Given the description of an element on the screen output the (x, y) to click on. 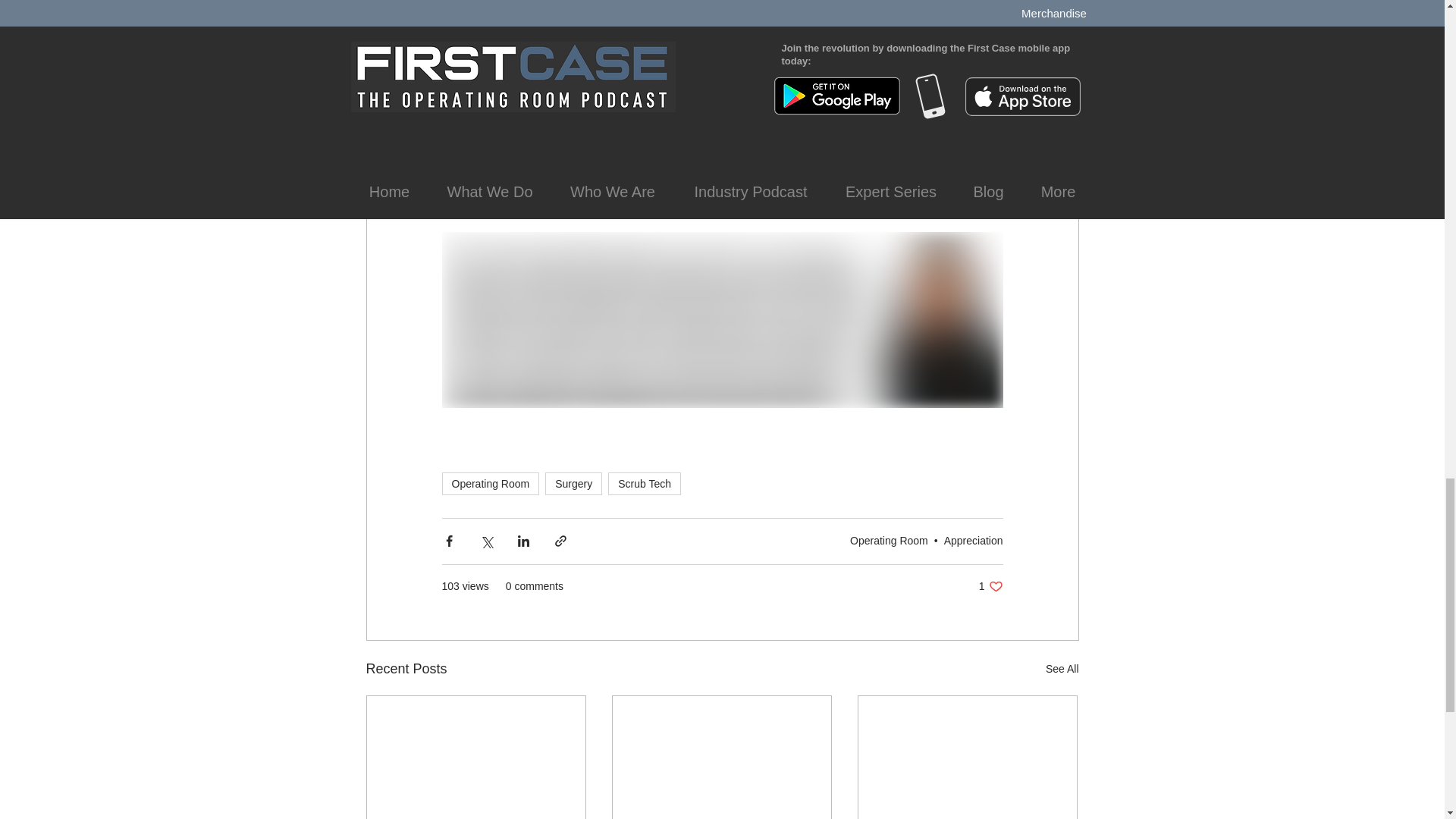
Appreciation (990, 586)
Operating Room (973, 540)
See All (489, 483)
Operating Room (1061, 669)
Scrub Tech (889, 540)
Surgery (644, 483)
